Given the description of an element on the screen output the (x, y) to click on. 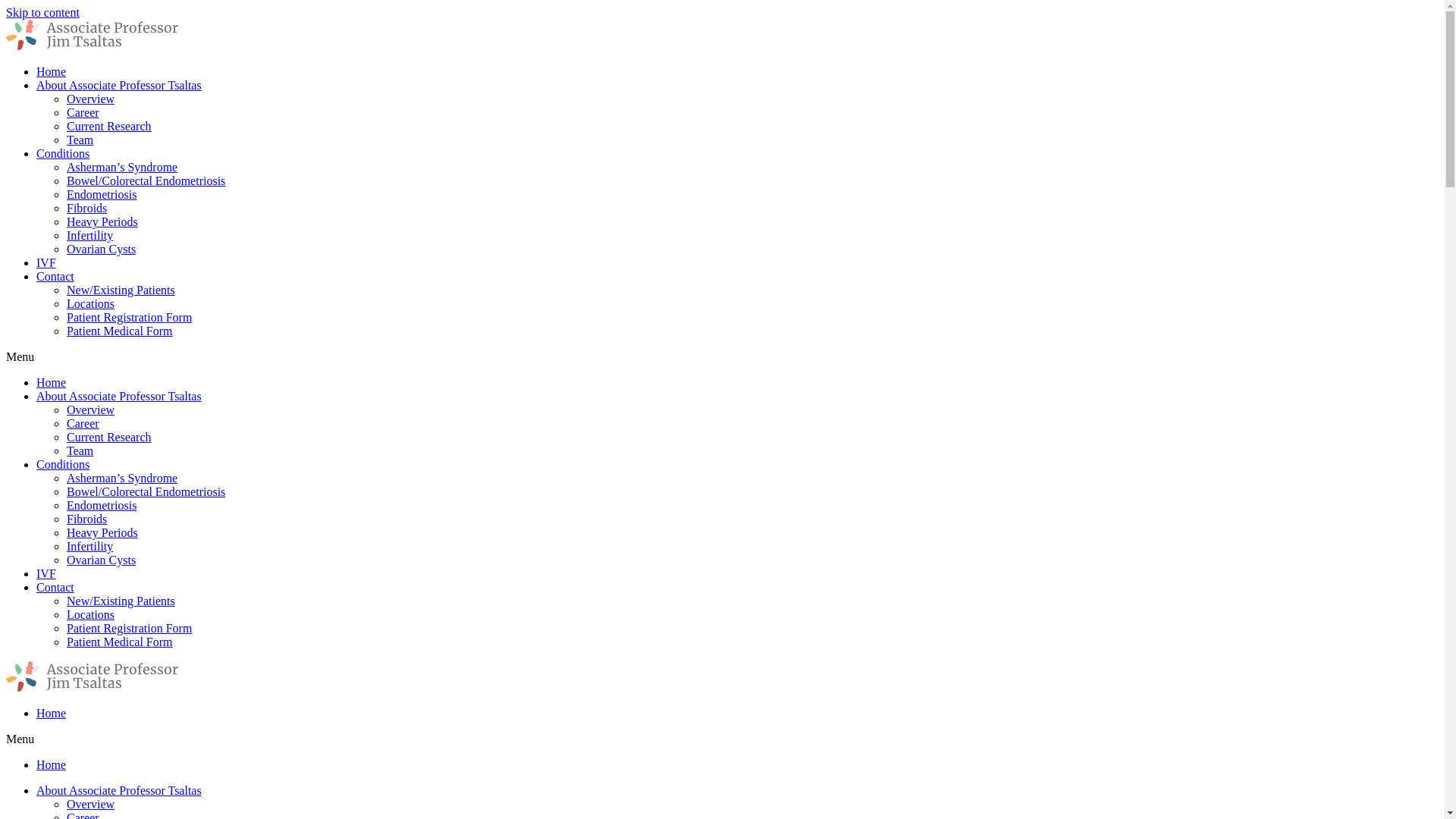
Career Element type: text (82, 423)
IVF Element type: text (46, 262)
Patient Registration Form Element type: text (128, 627)
Bowel/Colorectal Endometriosis Element type: text (145, 180)
Skip to content Element type: text (42, 12)
Home Element type: text (50, 712)
Locations Element type: text (90, 614)
Heavy Periods Element type: text (102, 532)
Endometriosis Element type: text (101, 194)
Current Research Element type: text (108, 436)
IVF Element type: text (46, 573)
Ovarian Cysts Element type: text (100, 248)
Home Element type: text (50, 764)
Fibroids Element type: text (86, 207)
Bowel/Colorectal Endometriosis Element type: text (145, 491)
About Associate Professor Tsaltas Element type: text (118, 84)
New/Existing Patients Element type: text (120, 600)
Patient Medical Form Element type: text (119, 330)
Team Element type: text (79, 139)
Ovarian Cysts Element type: text (100, 559)
Home Element type: text (50, 382)
Team Element type: text (79, 450)
Contact Element type: text (55, 275)
Overview Element type: text (90, 803)
Contact Element type: text (55, 586)
Overview Element type: text (90, 409)
New/Existing Patients Element type: text (120, 289)
Patient Registration Form Element type: text (128, 316)
Locations Element type: text (90, 303)
About Associate Professor Tsaltas Element type: text (118, 395)
Conditions Element type: text (62, 153)
About Associate Professor Tsaltas Element type: text (118, 790)
Current Research Element type: text (108, 125)
Infertility Element type: text (89, 235)
Home Element type: text (50, 71)
Infertility Element type: text (89, 545)
Endometriosis Element type: text (101, 504)
Heavy Periods Element type: text (102, 221)
Conditions Element type: text (62, 464)
Fibroids Element type: text (86, 518)
Patient Medical Form Element type: text (119, 641)
Career Element type: text (82, 112)
Overview Element type: text (90, 98)
